Given the description of an element on the screen output the (x, y) to click on. 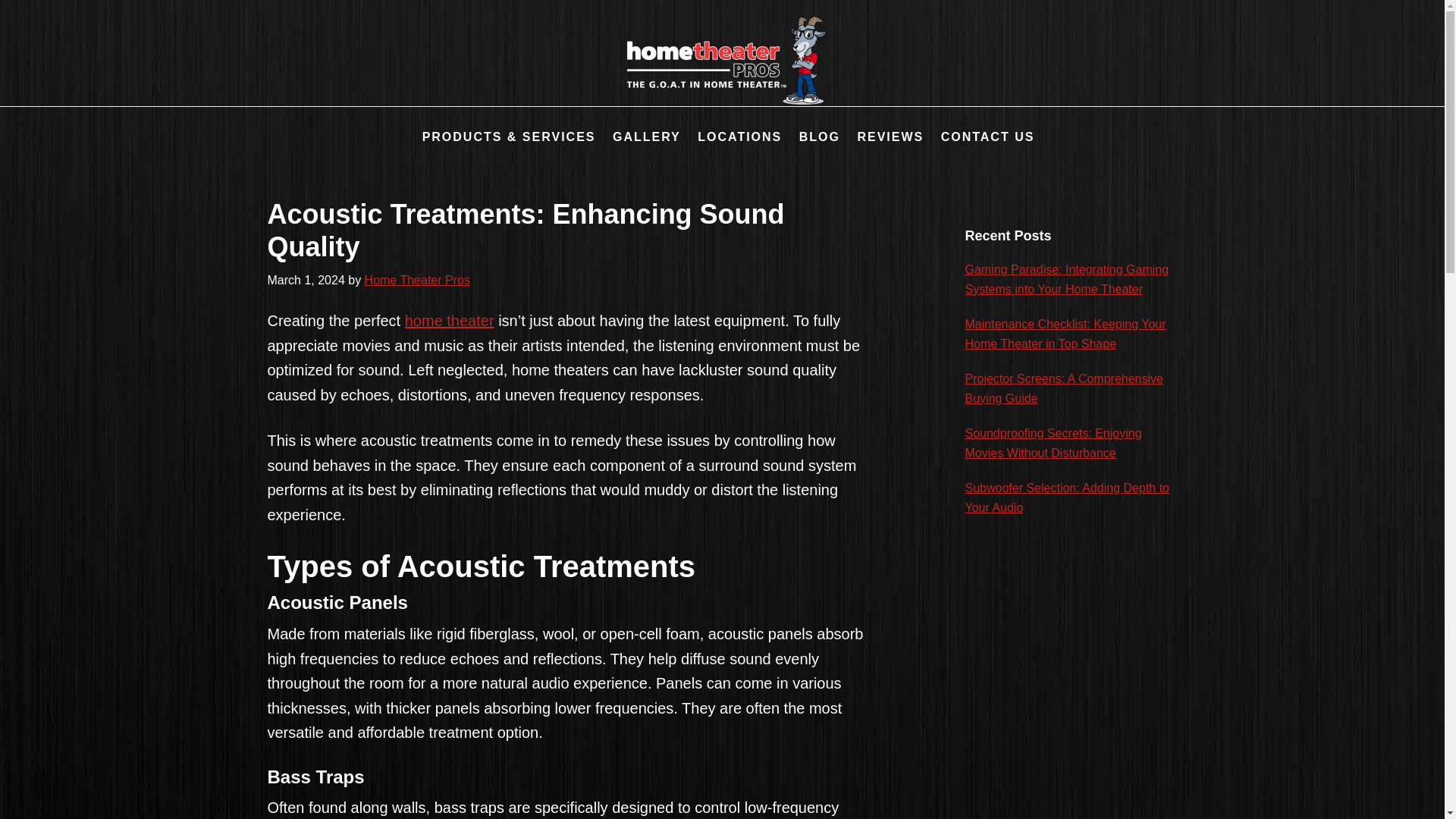
Projector Screens: A Comprehensive Buying Guide (1062, 388)
Home Theater Pros (417, 279)
REVIEWS (883, 137)
GALLERY (640, 137)
home theater (449, 320)
LOCATIONS (733, 137)
Subwoofer Selection: Adding Depth to Your Audio (1066, 497)
CONTACT US (981, 137)
Soundproofing Secrets: Enjoying Movies Without Disturbance (1052, 442)
